Given the description of an element on the screen output the (x, y) to click on. 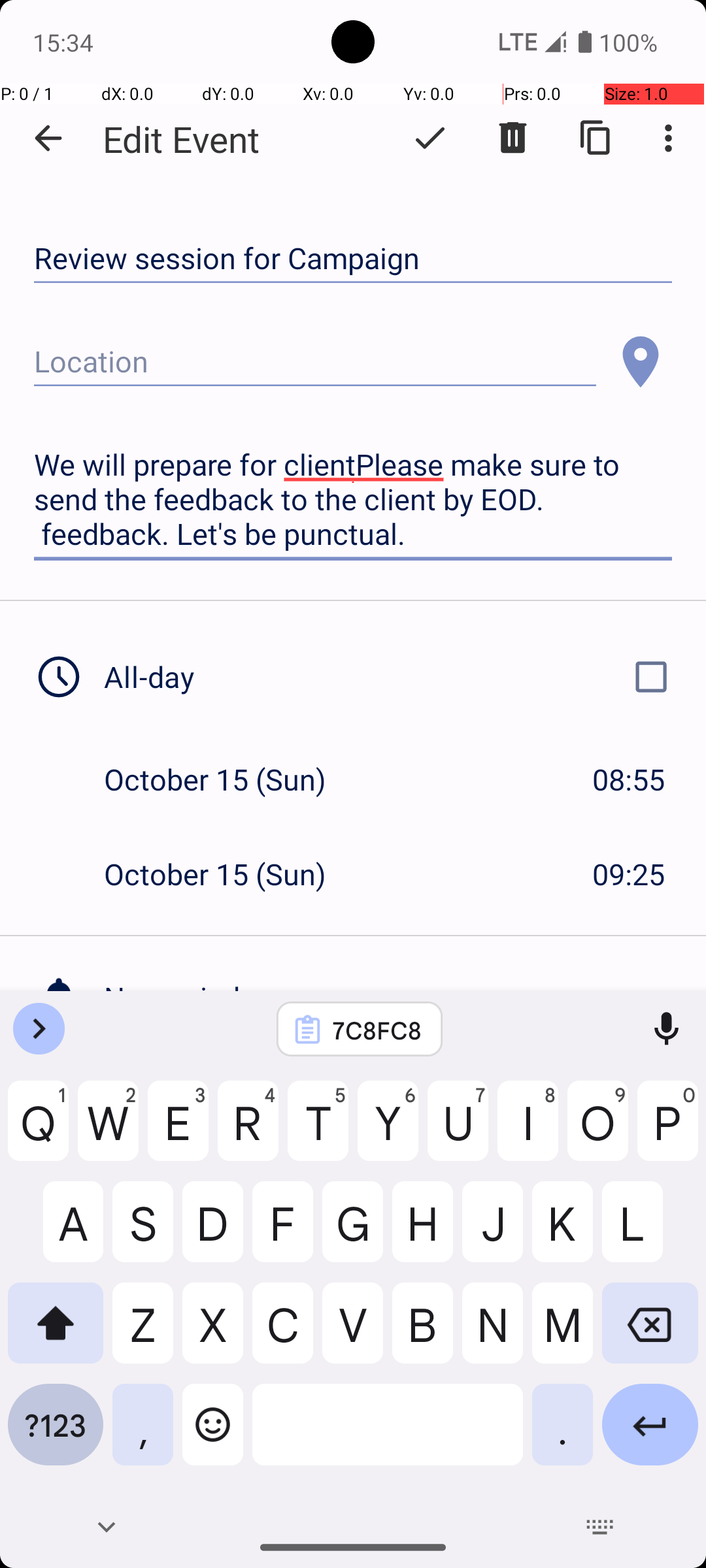
We will prepare for clientPlease make sure to send the feedback to the client by EOD.
 feedback. Let's be punctual. Element type: android.widget.EditText (352, 499)
08:55 Element type: android.widget.TextView (628, 778)
09:25 Element type: android.widget.TextView (628, 873)
7C8FC8 Element type: android.widget.TextView (376, 1029)
